Given the description of an element on the screen output the (x, y) to click on. 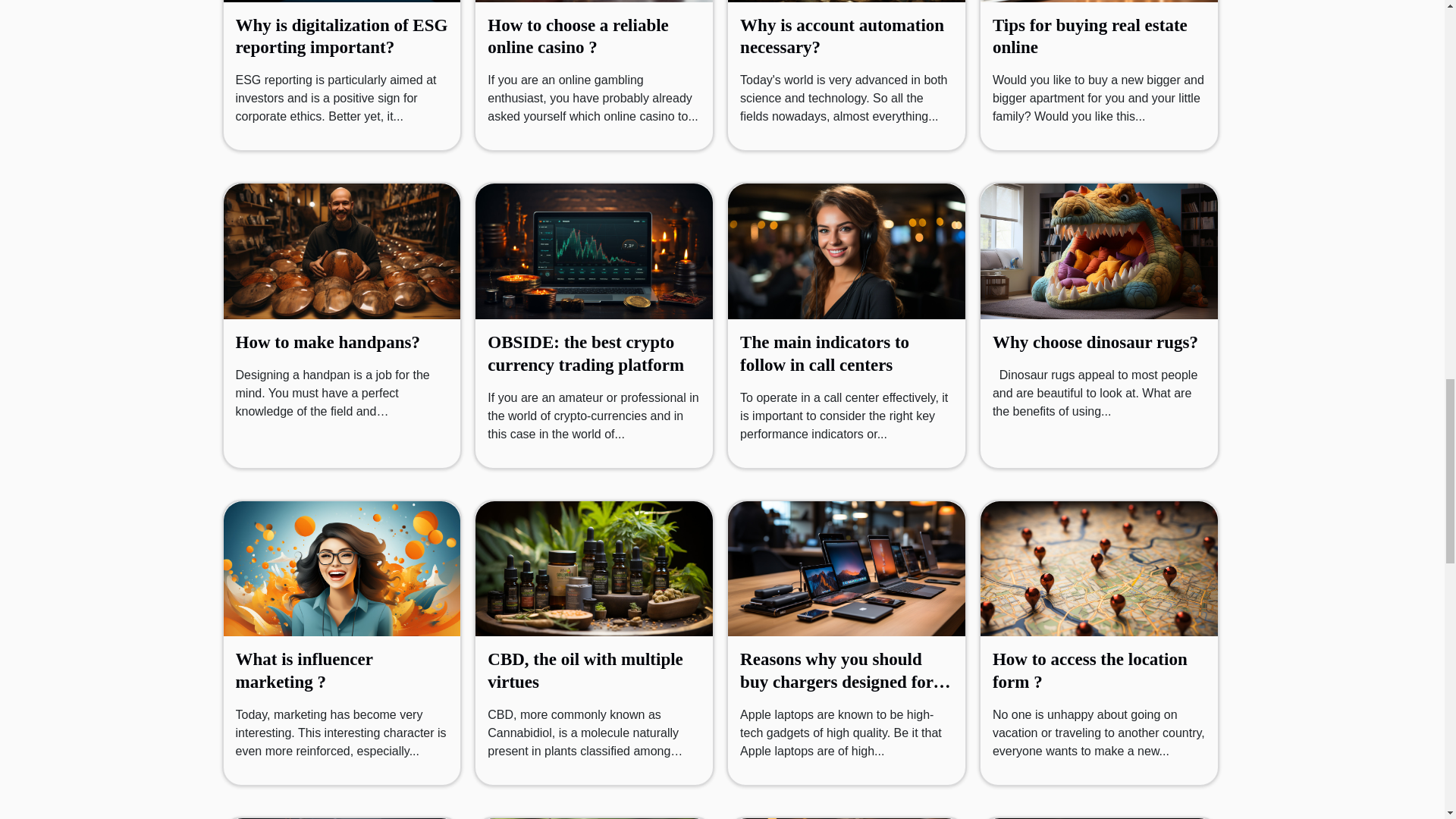
How to choose a reliable online casino ? (577, 36)
Why choose dinosaur rugs? (1095, 342)
How to make handpans? (326, 342)
OBSIDE: the best crypto currency trading platform (585, 353)
How to choose a reliable online casino ? (577, 36)
Why is digitalization of ESG reporting important? (340, 36)
Tips for buying real estate online (1090, 36)
Why is account automation necessary? (841, 36)
The main indicators to follow in call centers (823, 353)
Why is digitalization of ESG reporting important? (340, 36)
